Given the description of an element on the screen output the (x, y) to click on. 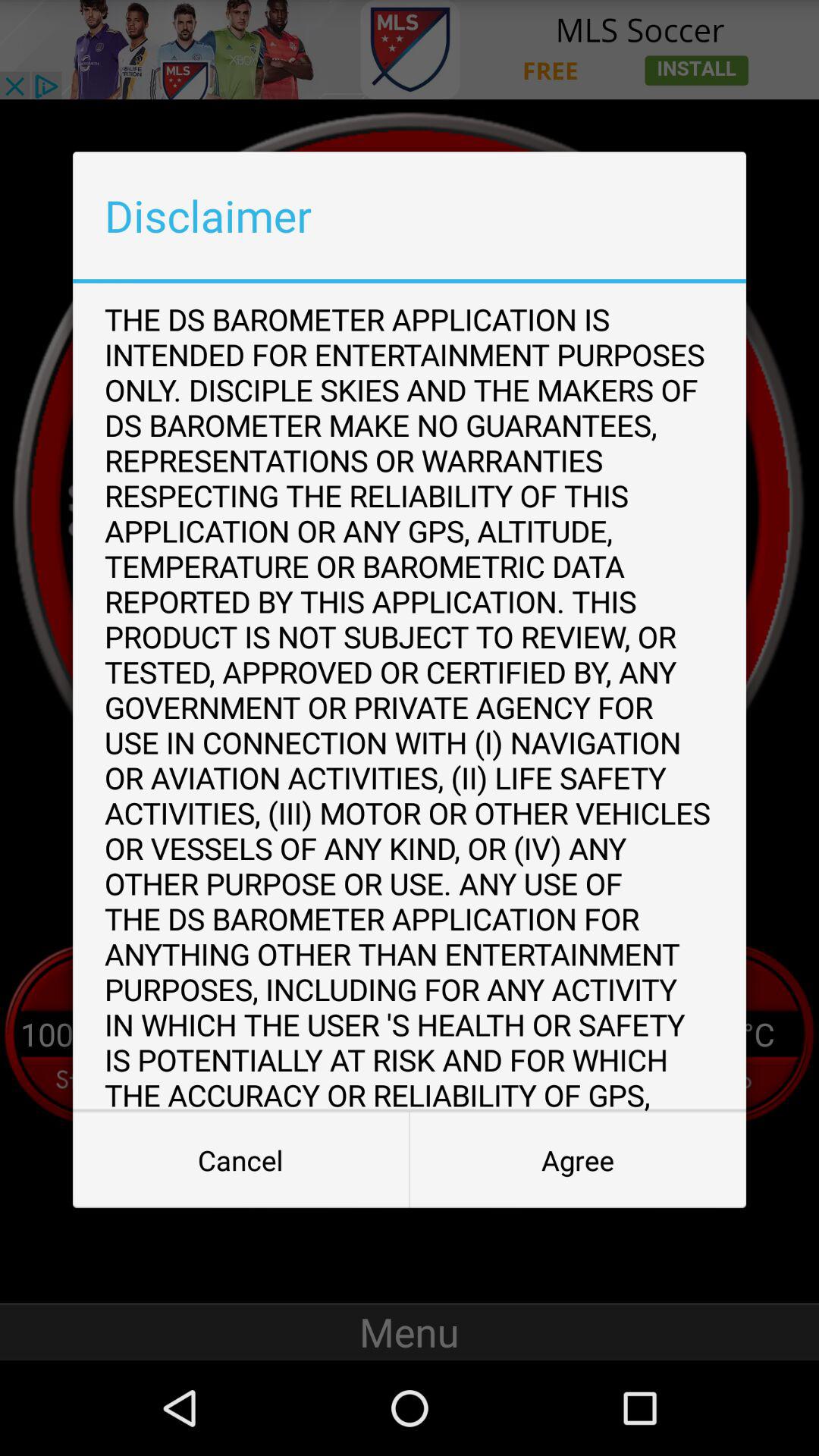
select button to the right of the cancel (578, 1160)
